Given the description of an element on the screen output the (x, y) to click on. 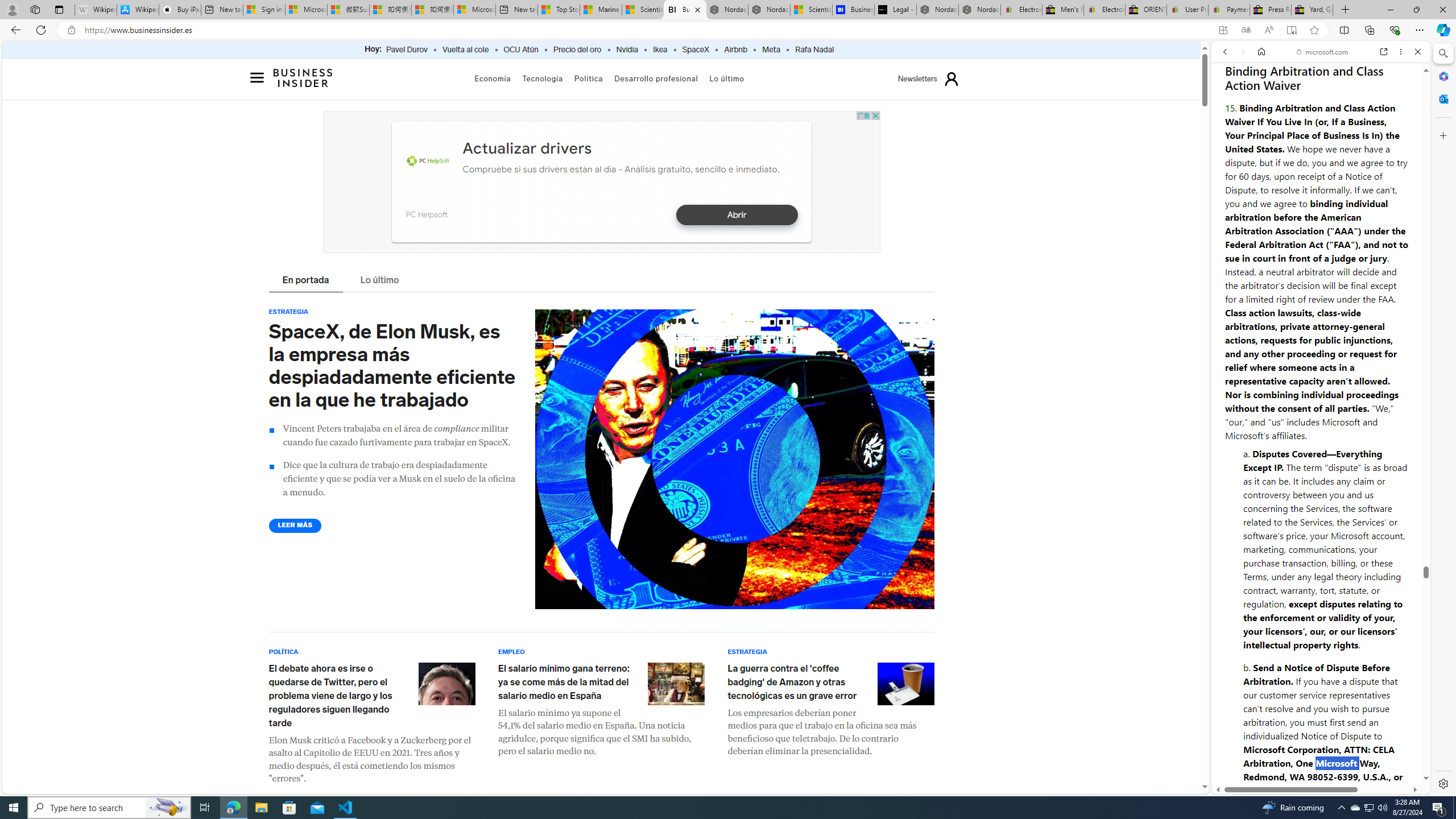
Pavel Durov (406, 49)
Desarrollo profesional (656, 78)
Abrir (736, 214)
Airbnb (734, 49)
Meta (770, 49)
PC Helpsoft (425, 214)
